Given the description of an element on the screen output the (x, y) to click on. 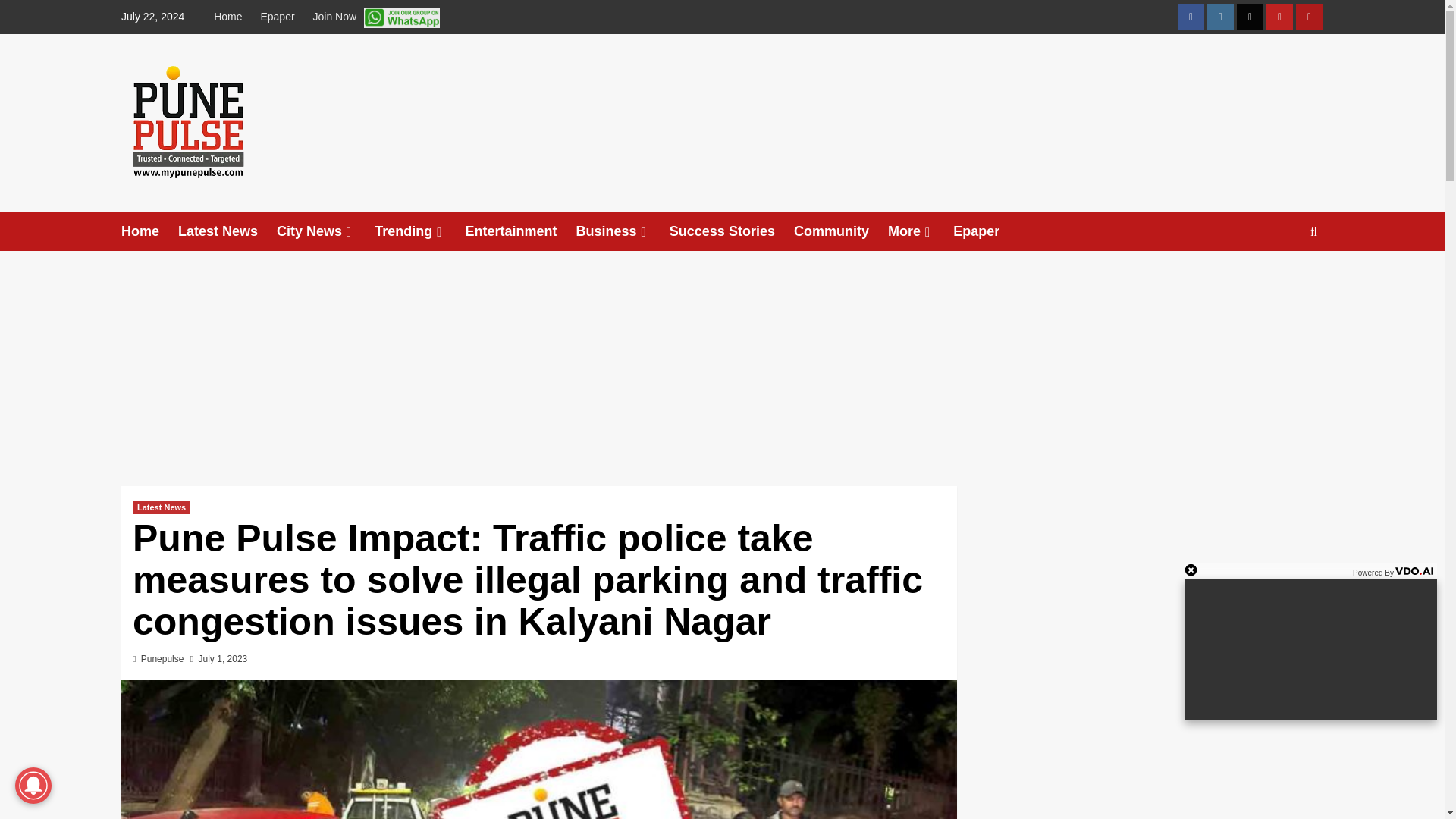
Youtube (1279, 17)
Business (622, 231)
City News (325, 231)
Join Now (375, 17)
Twitter (1249, 17)
Instagram (1220, 17)
Home (231, 17)
Telegram (1308, 17)
Community (840, 231)
Success Stories (731, 231)
Epaper (276, 17)
More (920, 231)
Entertainment (520, 231)
Latest News (226, 231)
